Given the description of an element on the screen output the (x, y) to click on. 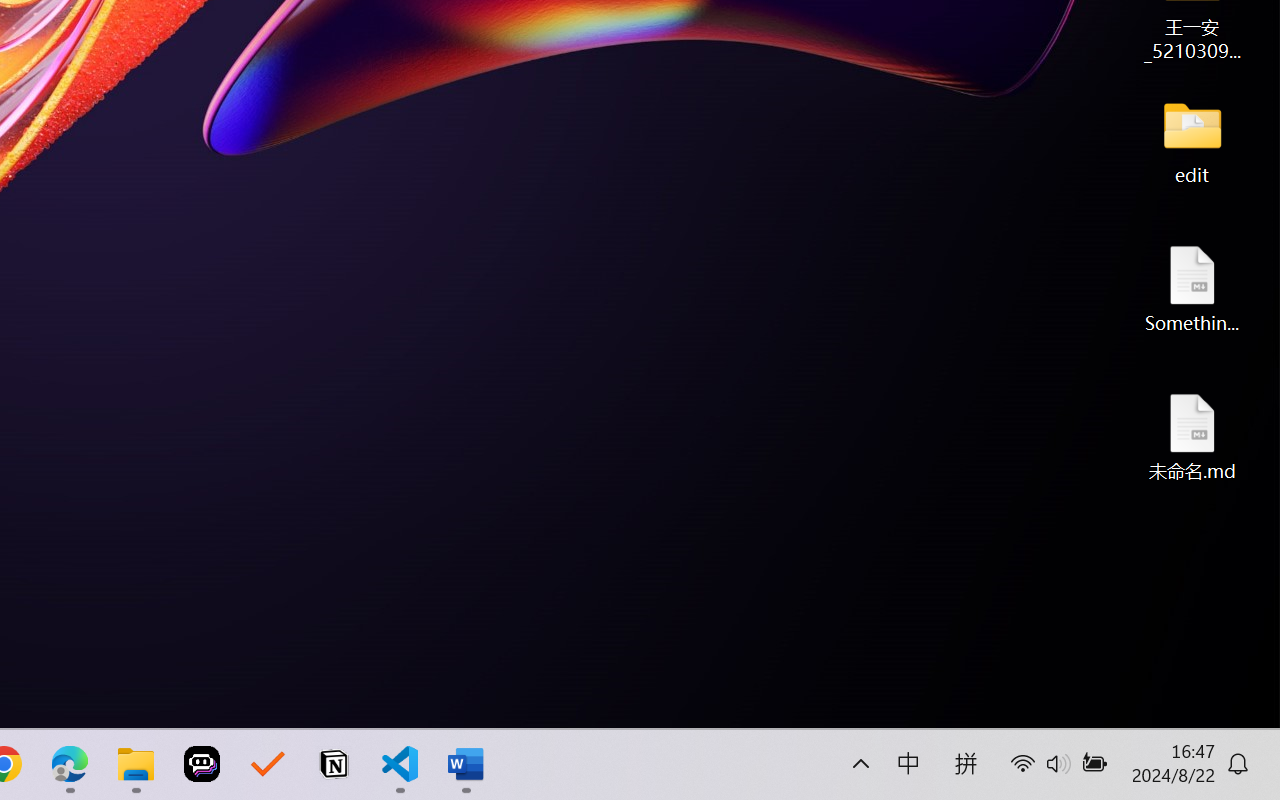
CRLF (230, 705)
Zoom 44% (1253, 712)
Python (361, 705)
